Given the description of an element on the screen output the (x, y) to click on. 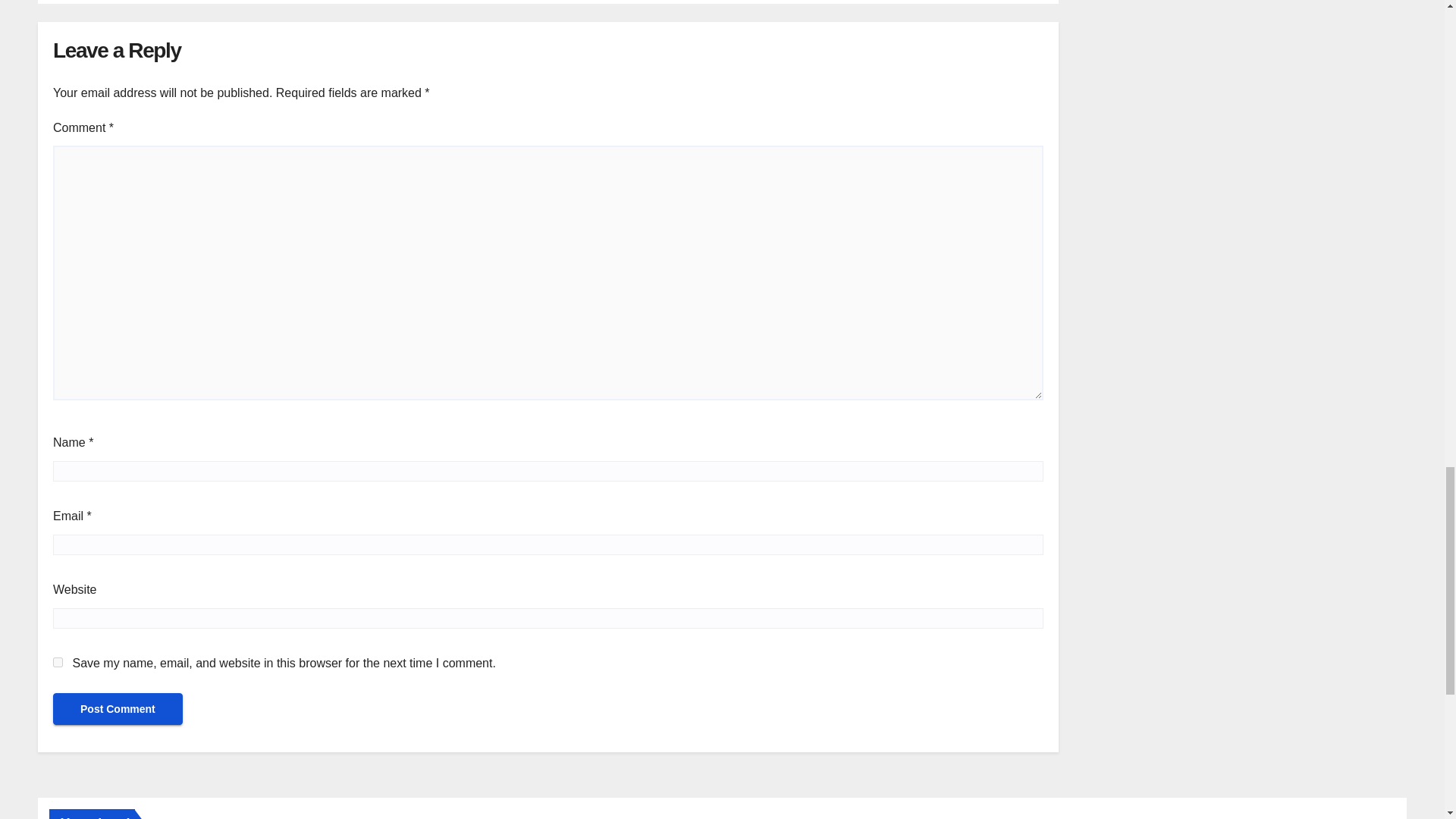
yes (57, 662)
Post Comment (117, 708)
